Given the description of an element on the screen output the (x, y) to click on. 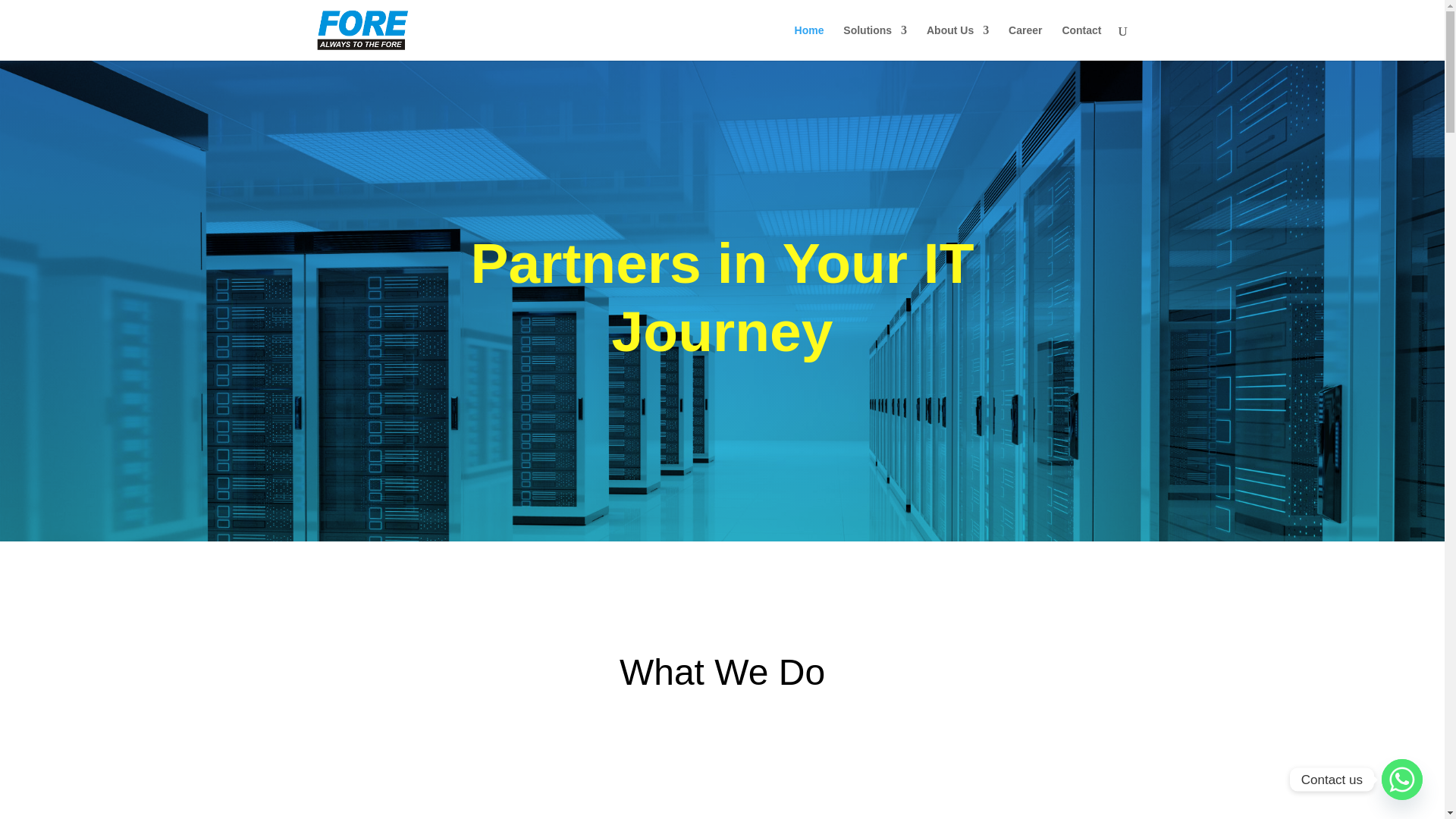
Solutions (875, 42)
Contact us (1401, 779)
Contact (1080, 42)
Career (1025, 42)
About Us (957, 42)
